Given the description of an element on the screen output the (x, y) to click on. 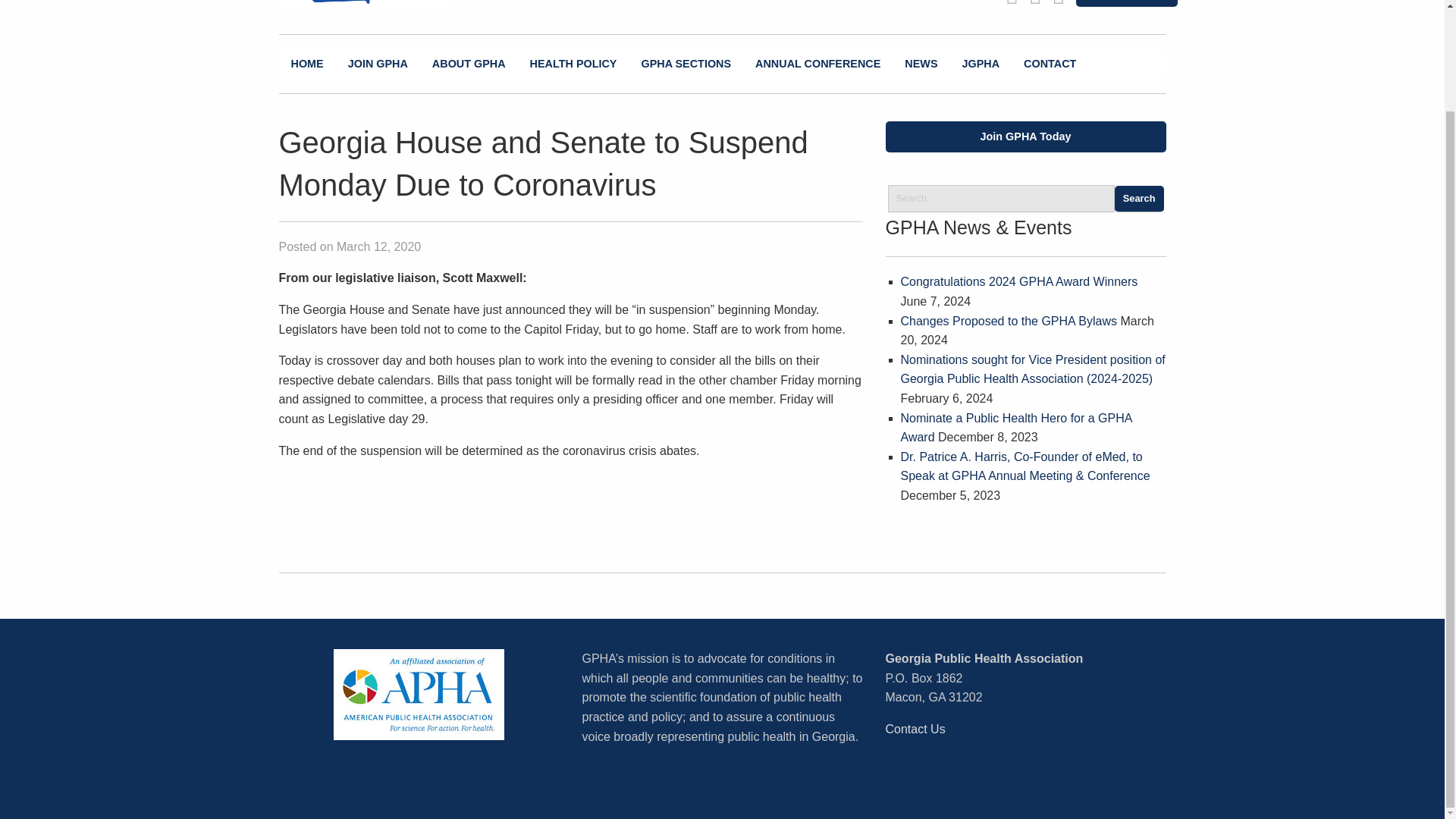
GPHA SECTIONS (685, 63)
JOIN GPHA (378, 63)
JGPHA (980, 63)
Congratulations 2024 GPHA Award Winners (1019, 281)
Member Log In (1125, 3)
Join GPHA Today (1025, 136)
GPHA: Georgia Public Health Association (381, 5)
Changes Proposed to the GPHA Bylaws (1009, 320)
HEALTH POLICY (573, 63)
Search (1139, 198)
